Given the description of an element on the screen output the (x, y) to click on. 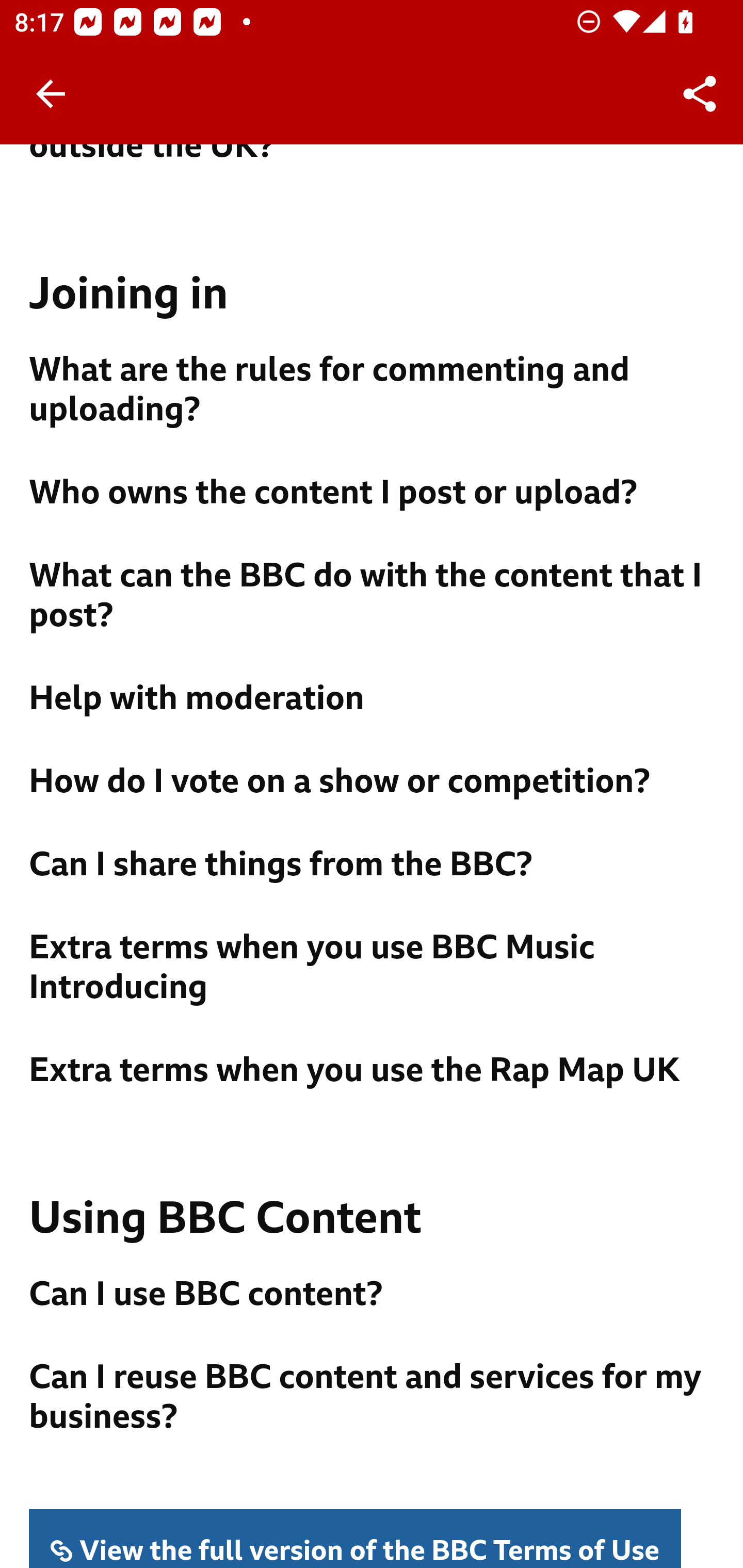
Back (50, 93)
Share (699, 93)
What are the rules for commenting and uploading? (372, 390)
Who owns the content I post or upload? (372, 493)
What can the BBC do with the content that I post? (372, 596)
Help with moderation (372, 698)
How do I vote on a show or competition? (372, 782)
Can I share things from the BBC? (372, 865)
Extra terms when you use BBC Music Introducing (372, 968)
Extra terms when you use the Rap Map UK (372, 1070)
Can I use BBC content? (372, 1294)
View the full version of the BBC Terms of Use (355, 1538)
